Given the description of an element on the screen output the (x, y) to click on. 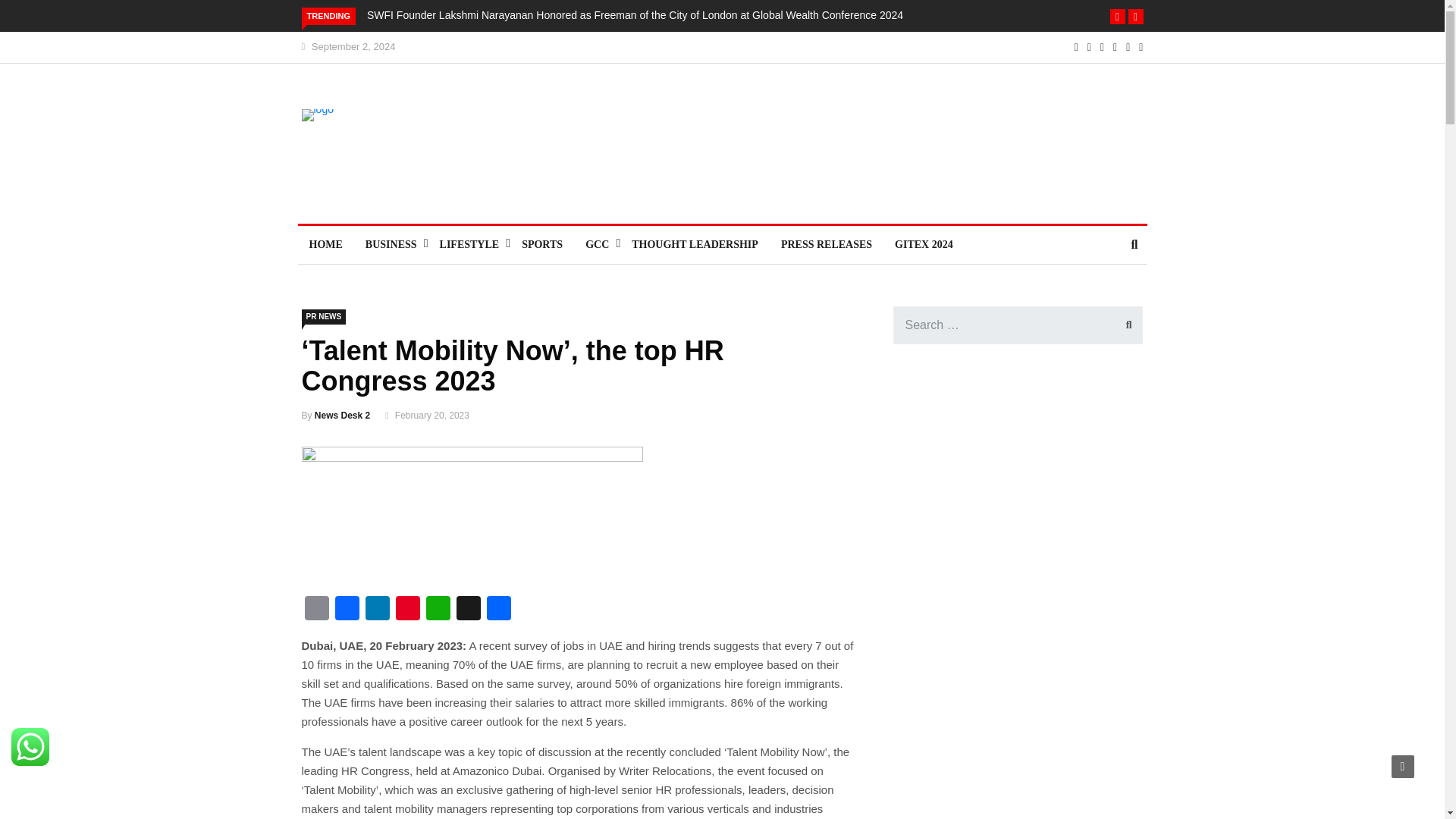
logo (398, 148)
BUSINESS (390, 244)
HOME (325, 244)
